Given the description of an element on the screen output the (x, y) to click on. 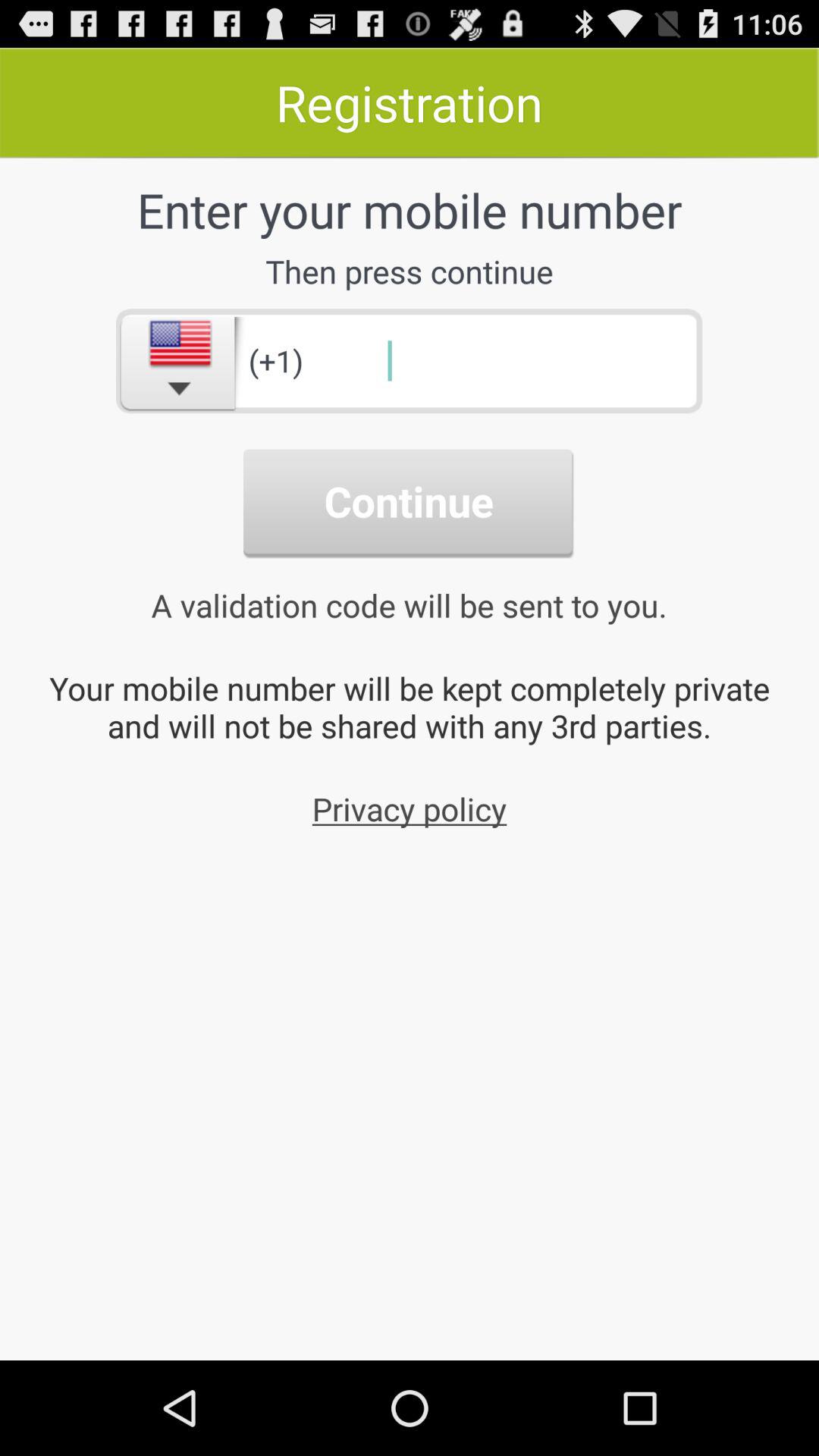
press the privacy policy icon (409, 808)
